Given the description of an element on the screen output the (x, y) to click on. 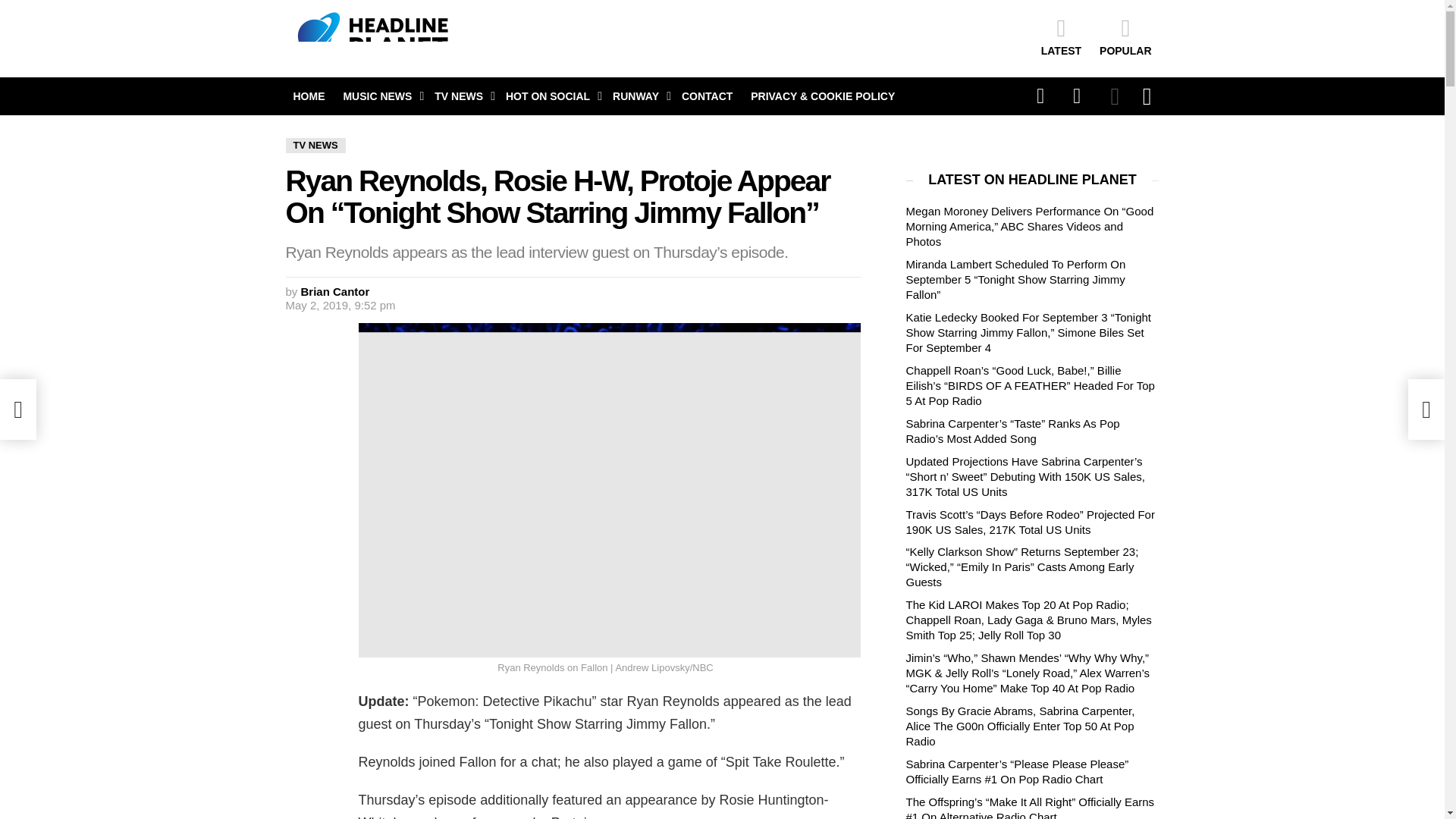
POPULAR (1125, 35)
LATEST (1061, 35)
TV NEWS (460, 96)
HOT ON SOCIAL (549, 96)
MUSIC NEWS (378, 96)
RUNWAY (638, 96)
HOME (308, 96)
